Given the description of an element on the screen output the (x, y) to click on. 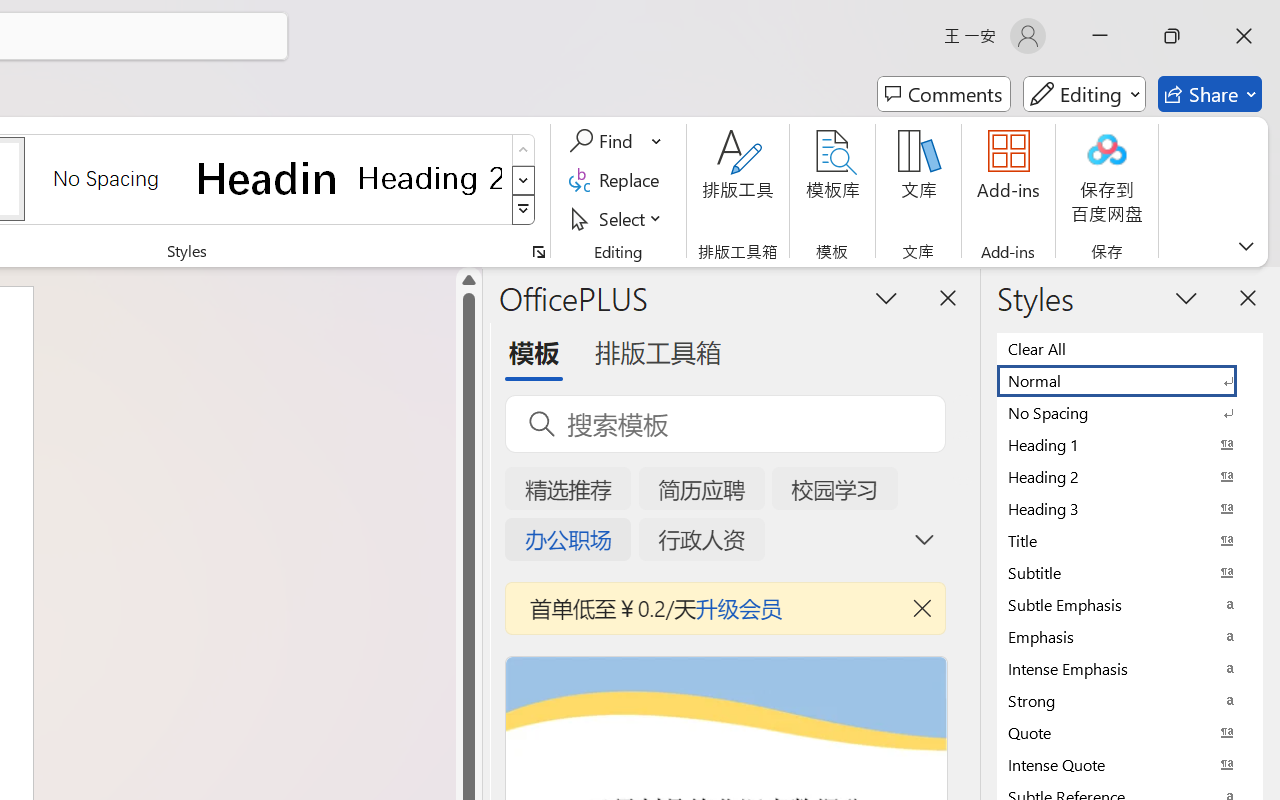
Intense Quote (1130, 764)
Row Down (523, 180)
Emphasis (1130, 636)
Restore Down (1172, 36)
Subtle Emphasis (1130, 604)
Heading 3 (1130, 508)
Comments (943, 94)
Mode (1083, 94)
Heading 1 (267, 178)
